Given the description of an element on the screen output the (x, y) to click on. 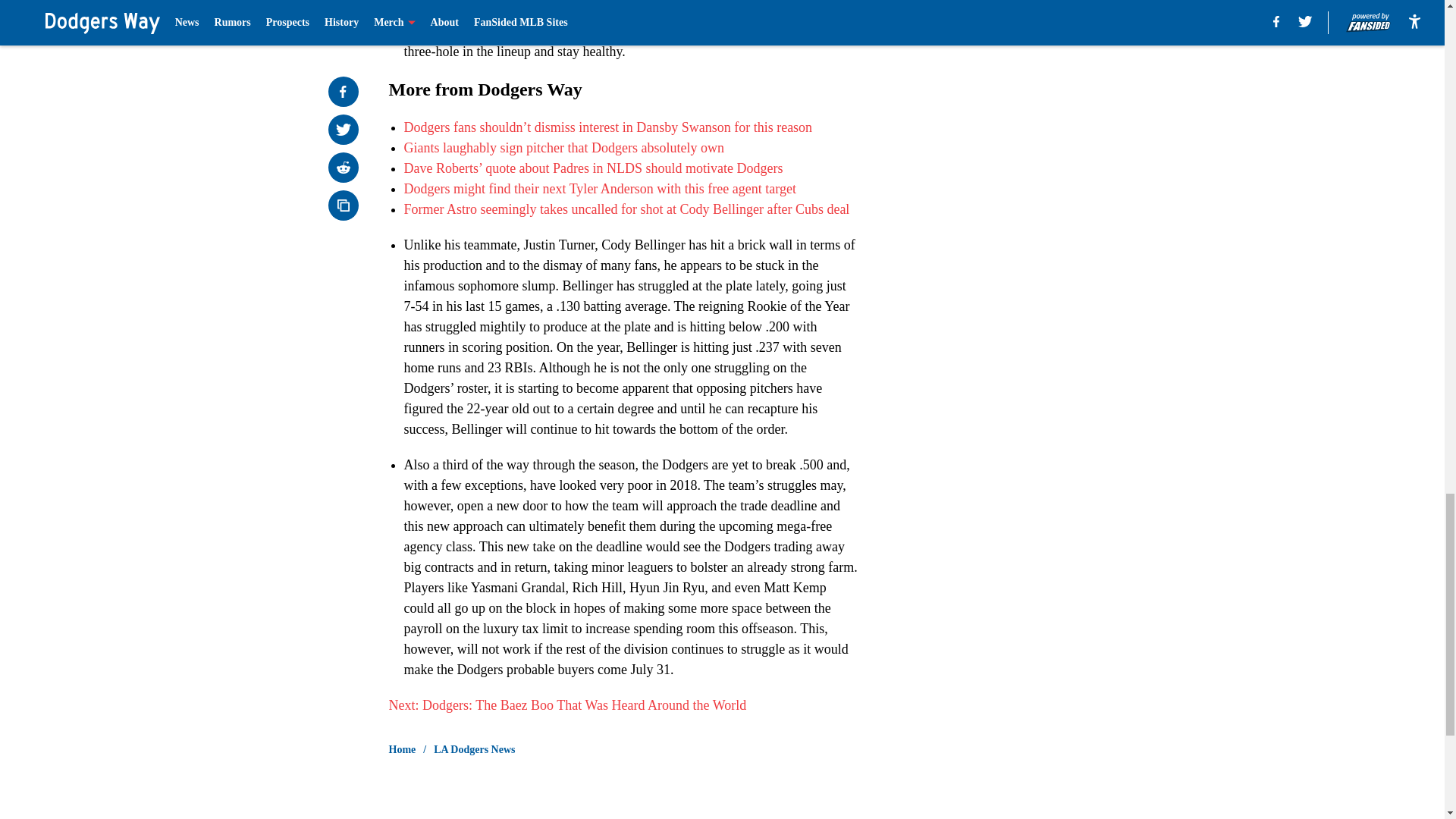
Next: Dodgers: The Baez Boo That Was Heard Around the World (566, 704)
LA Dodgers News (474, 749)
Home (401, 749)
Giants laughably sign pitcher that Dodgers absolutely own (563, 147)
